Given the description of an element on the screen output the (x, y) to click on. 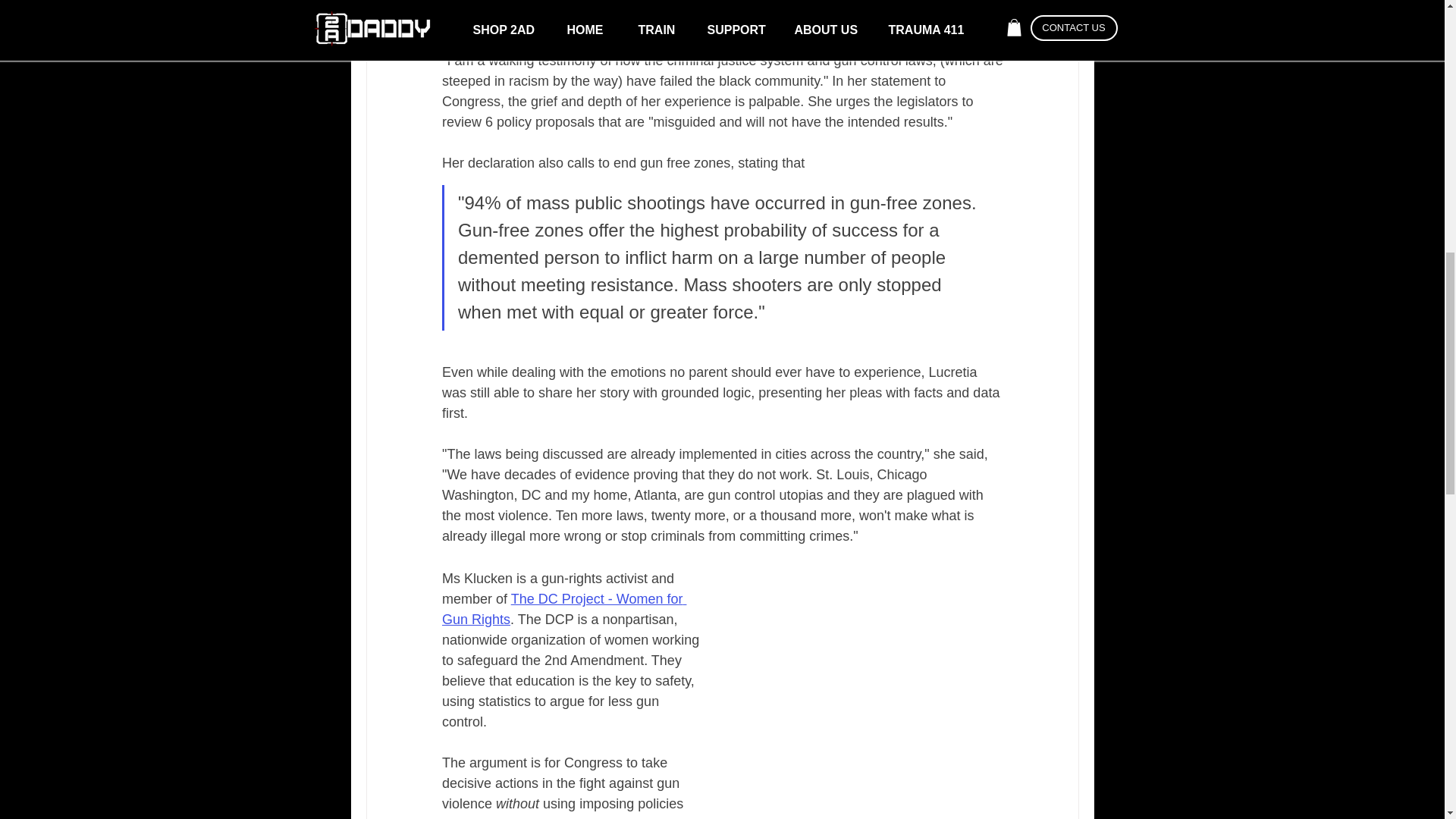
The DC Project - Women for Gun Rights (563, 609)
